Given the description of an element on the screen output the (x, y) to click on. 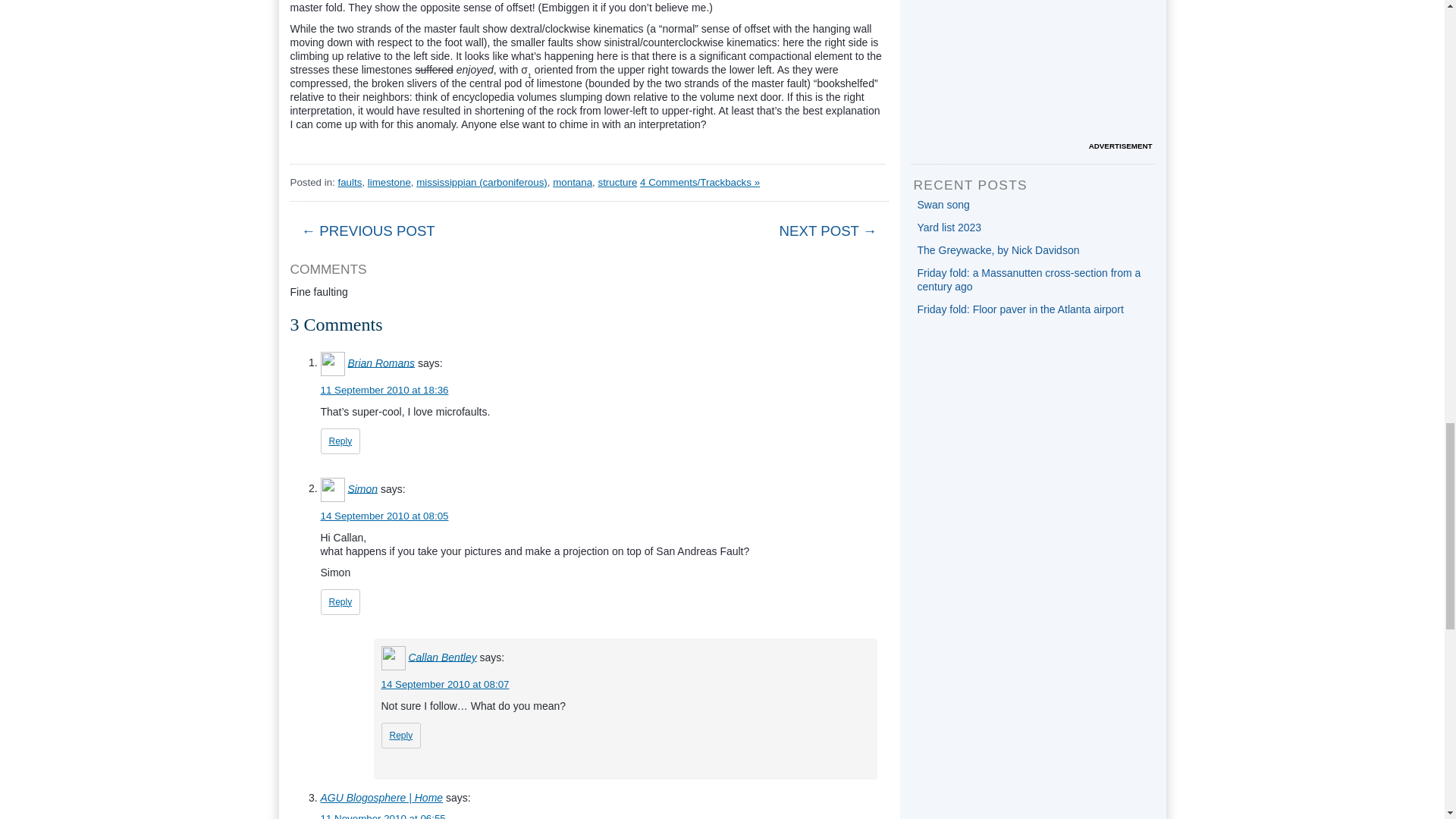
limestone (389, 182)
Reply (339, 441)
Simon (362, 488)
Reply (339, 601)
Brian Romans (380, 362)
faults (349, 182)
3rd party ad content (1032, 69)
11 September 2010 at 18:36 (384, 389)
structure (616, 182)
14 September 2010 at 08:07 (444, 684)
